Given the description of an element on the screen output the (x, y) to click on. 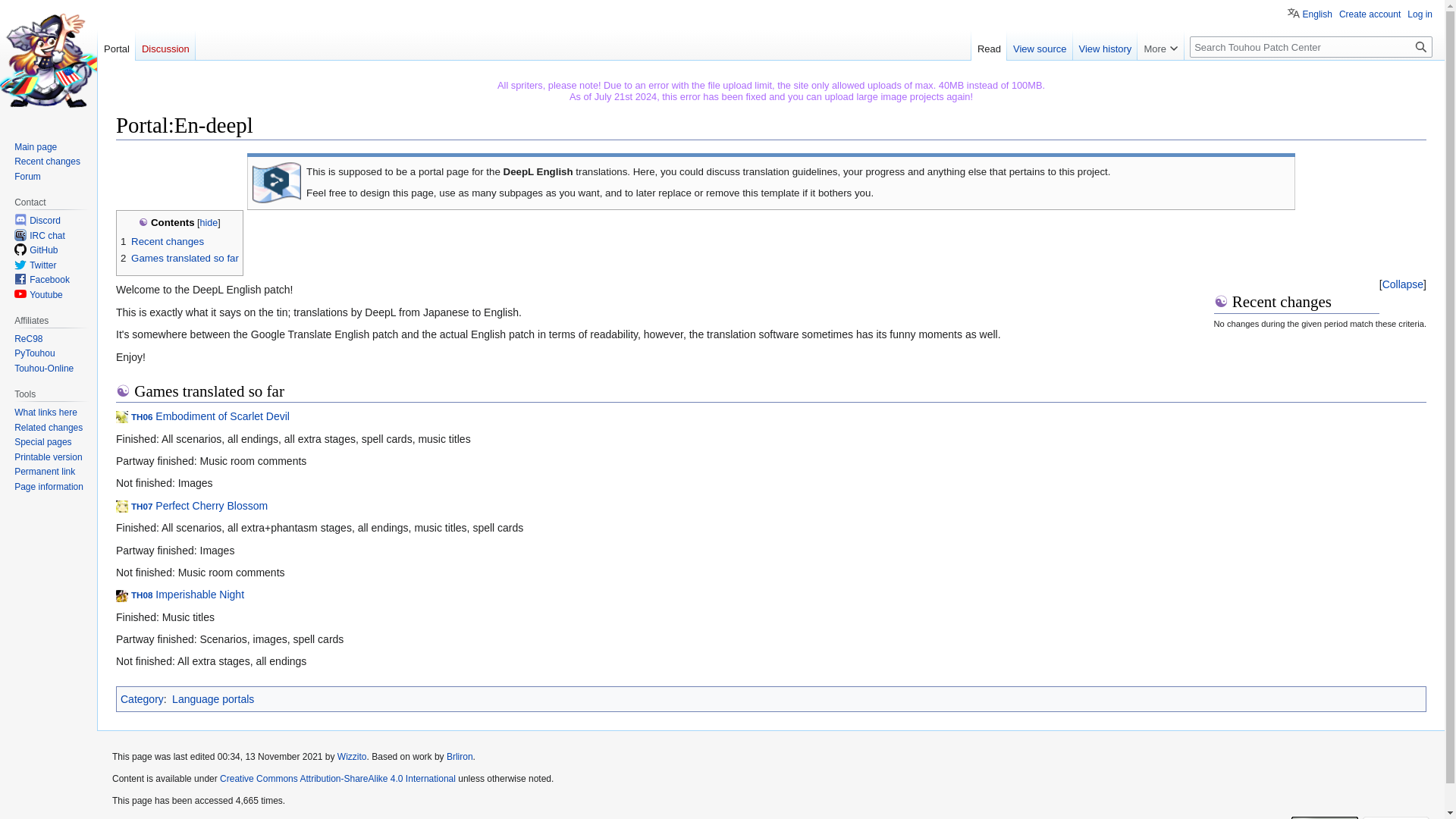
View source (1040, 45)
TH06 Embodiment of Scarlet Devil (210, 416)
Main page (35, 146)
Collapse (1402, 284)
Log in (1419, 14)
Special:Categories (141, 698)
Facebook (49, 279)
Search the pages for this text (1420, 46)
Search (1420, 46)
1 Recent changes (161, 241)
English (1309, 11)
Th08 (187, 594)
DeepL English (276, 182)
Th06 (210, 416)
